Given the description of an element on the screen output the (x, y) to click on. 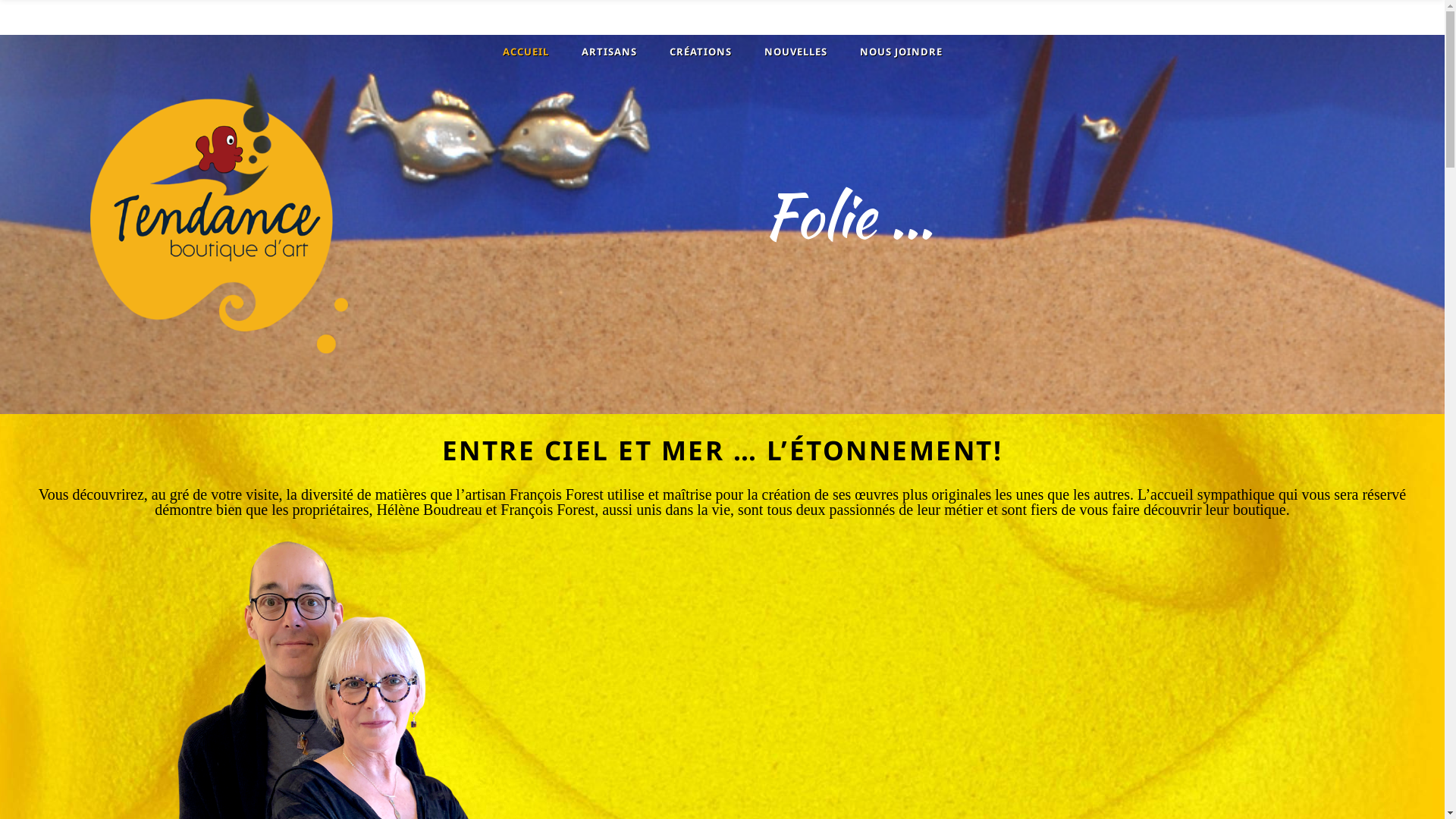
ARTISANS Element type: text (606, 51)
ACCUEIL Element type: text (523, 51)
Express Design Element type: text (1023, 787)
NOUS JOINDRE Element type: text (898, 51)
NOUVELLES Element type: text (793, 51)
info@art-tendance.ca Element type: text (869, 731)
LudoStudio Element type: text (930, 787)
